Given the description of an element on the screen output the (x, y) to click on. 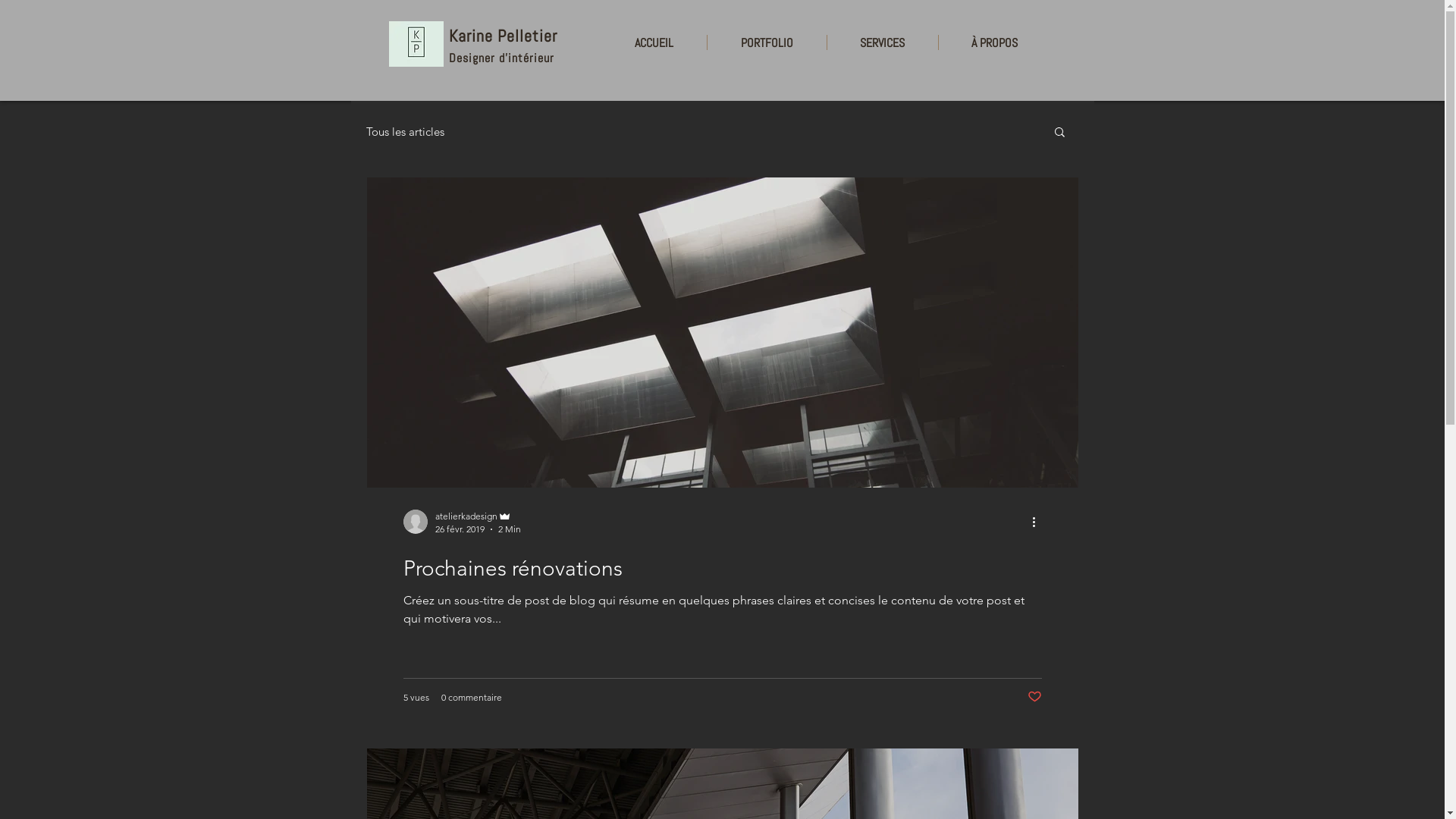
Vous n'aimez plus ce post Element type: text (1033, 696)
0 commentaire Element type: text (471, 696)
PORTFOLIO Element type: text (765, 42)
Tous les articles Element type: text (404, 131)
ACCUEIL Element type: text (653, 42)
SERVICES Element type: text (881, 42)
